Given the description of an element on the screen output the (x, y) to click on. 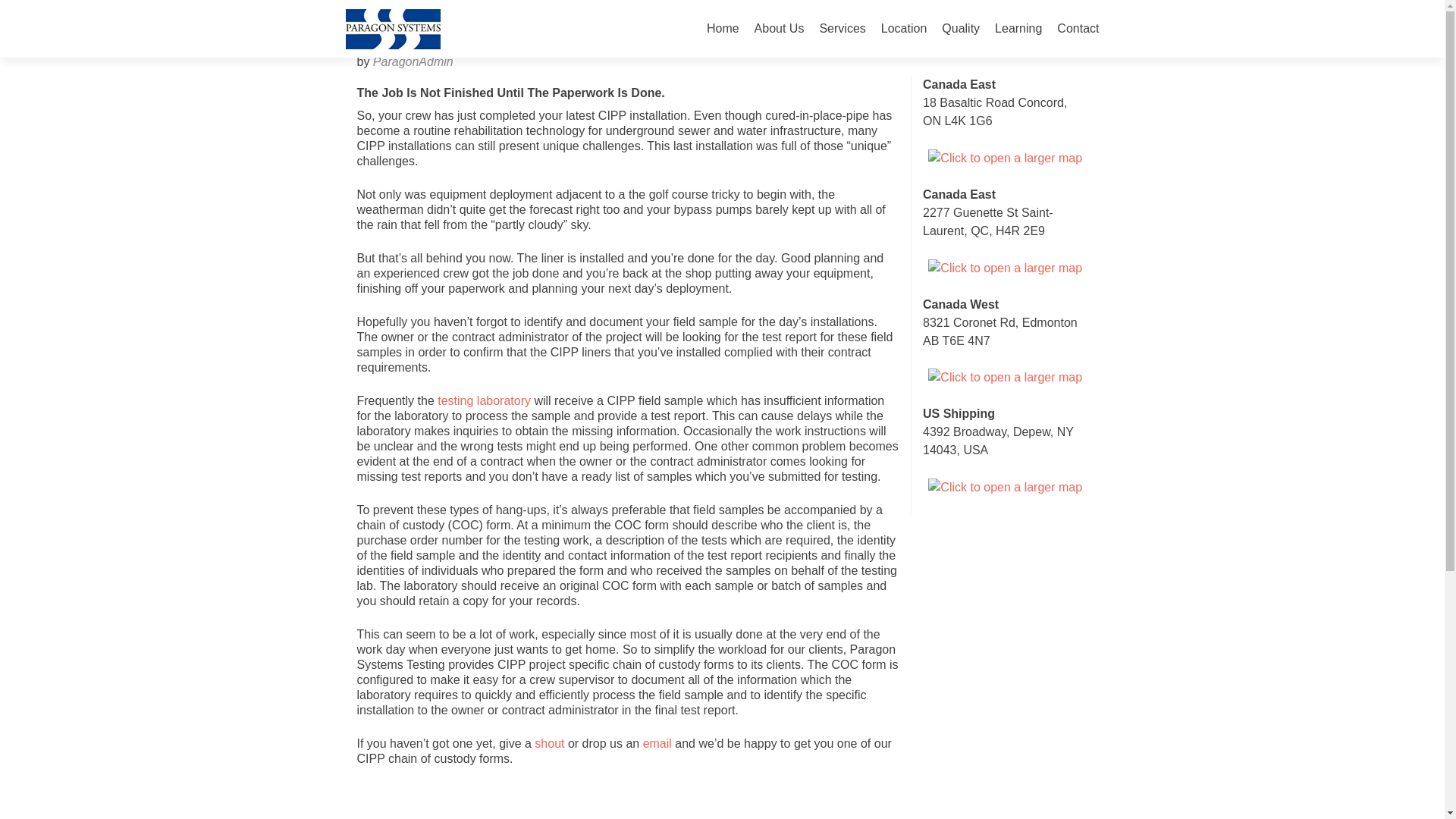
Click to open a larger map (1004, 487)
ParagonAdmin (412, 61)
Contact (1078, 28)
email (657, 743)
Click to open a larger map (1004, 158)
Click to open a larger map (1004, 377)
Click to open a larger map (1004, 268)
Home (722, 28)
shout (549, 743)
Quality (960, 28)
